Given the description of an element on the screen output the (x, y) to click on. 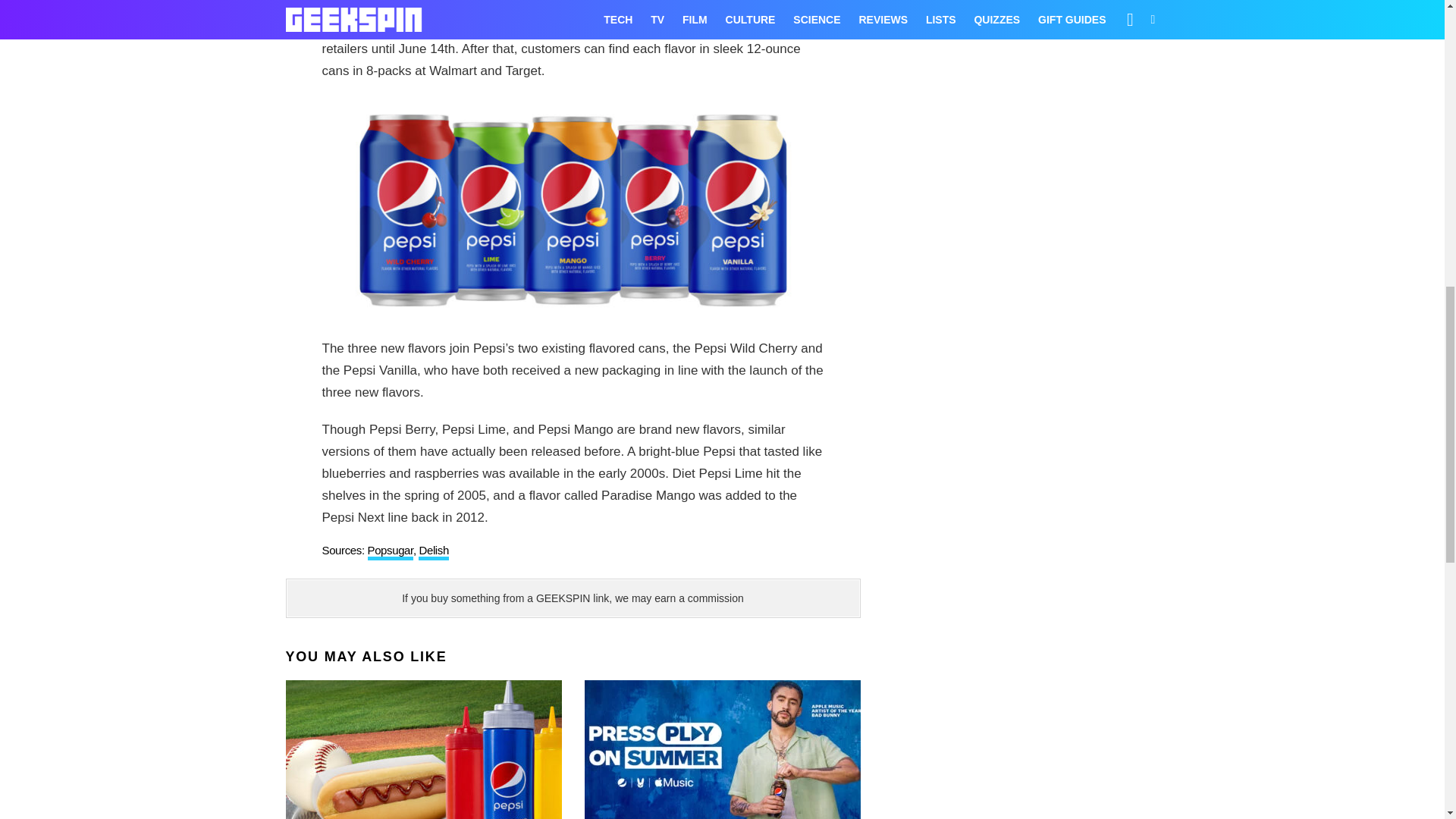
Popsugar (389, 551)
Pepsi is giving away free Apple Music subscriptions (721, 749)
Delish (433, 551)
